Given the description of an element on the screen output the (x, y) to click on. 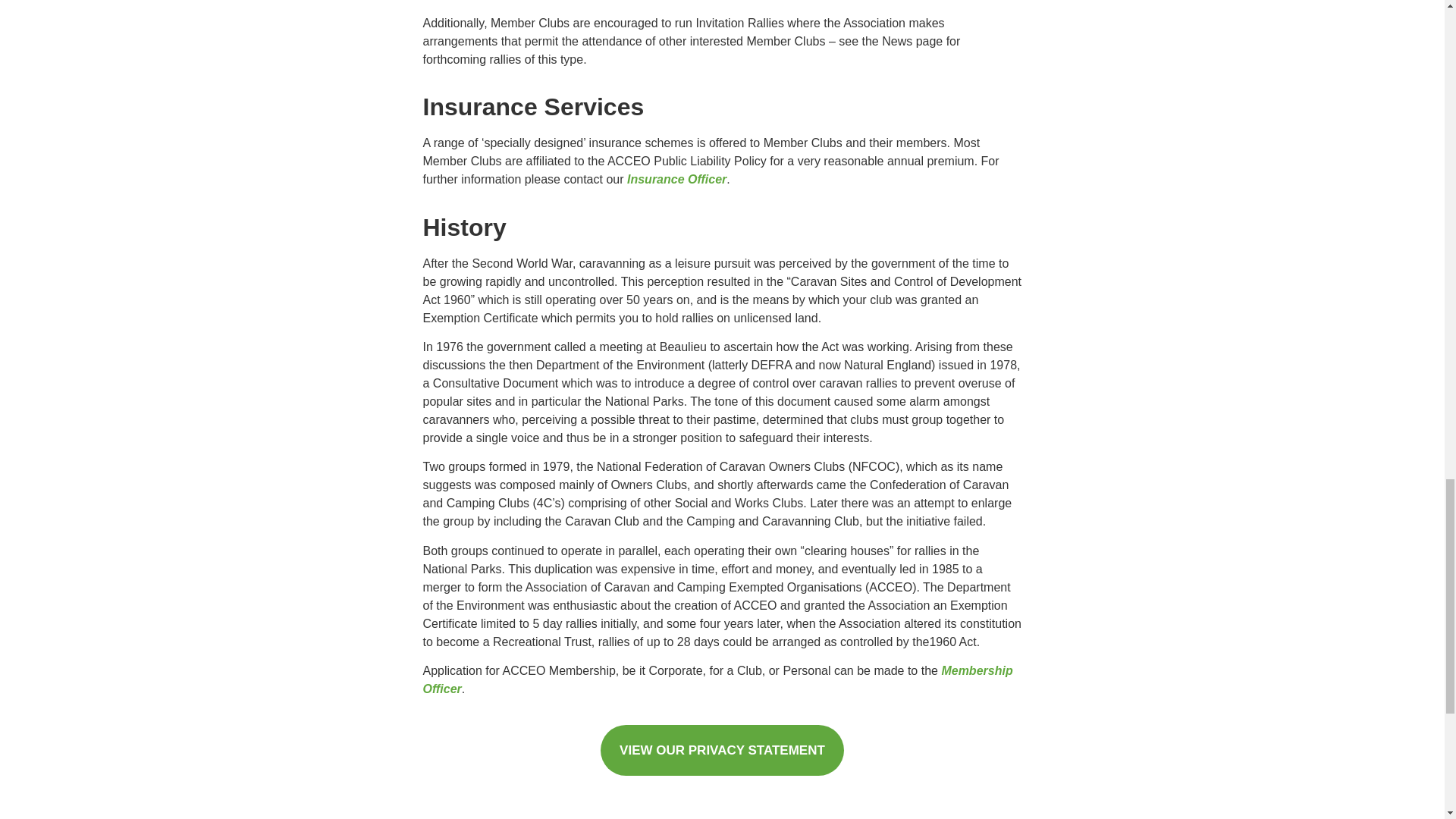
Insurance Officer (676, 178)
Membership Officer (718, 679)
VIEW OUR PRIVACY STATEMENT (721, 749)
